Given the description of an element on the screen output the (x, y) to click on. 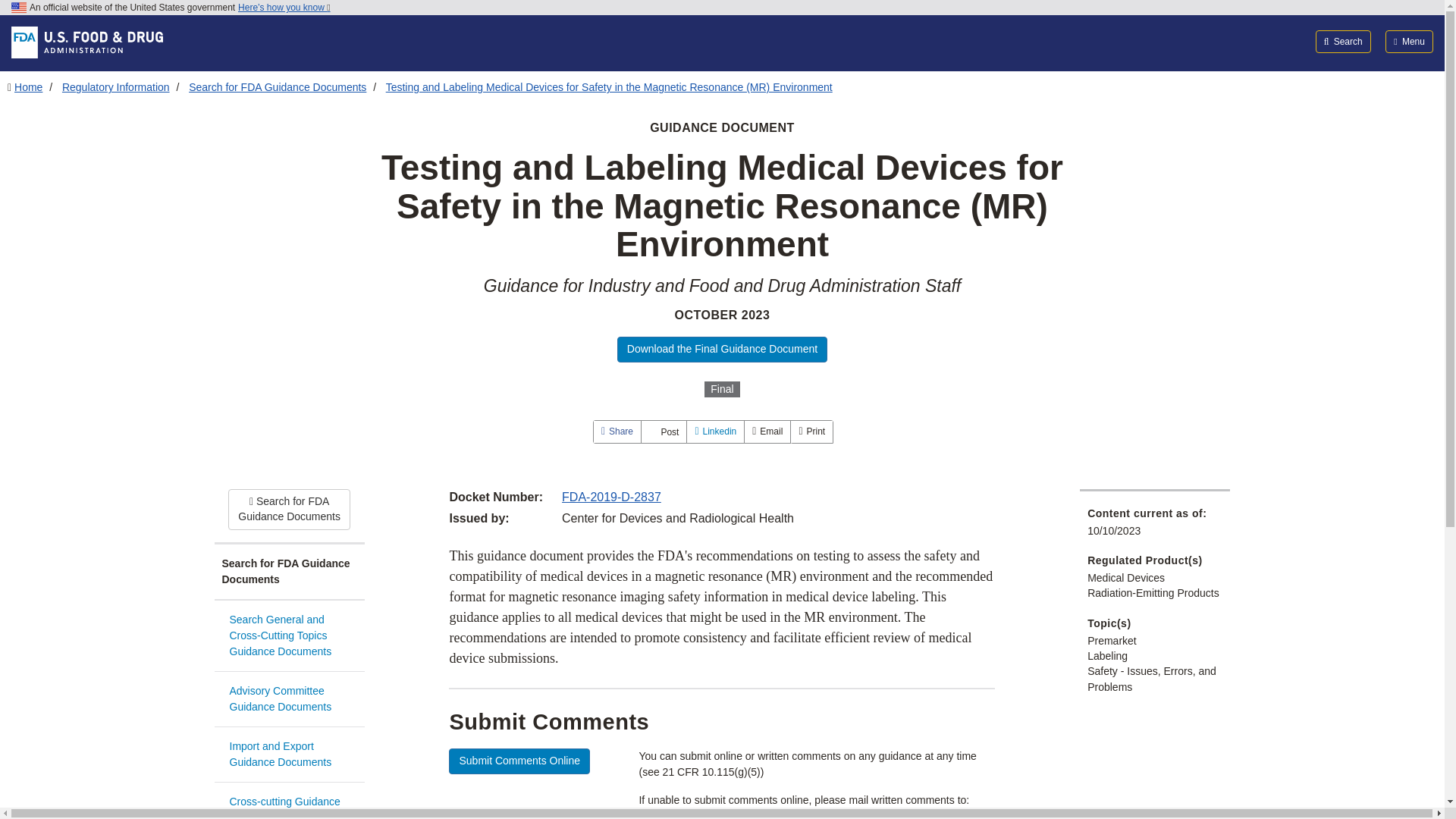
Print this page (811, 431)
Search for FDA Guidance Documents (289, 572)
  Menu (1409, 41)
  Search (1343, 41)
